Given the description of an element on the screen output the (x, y) to click on. 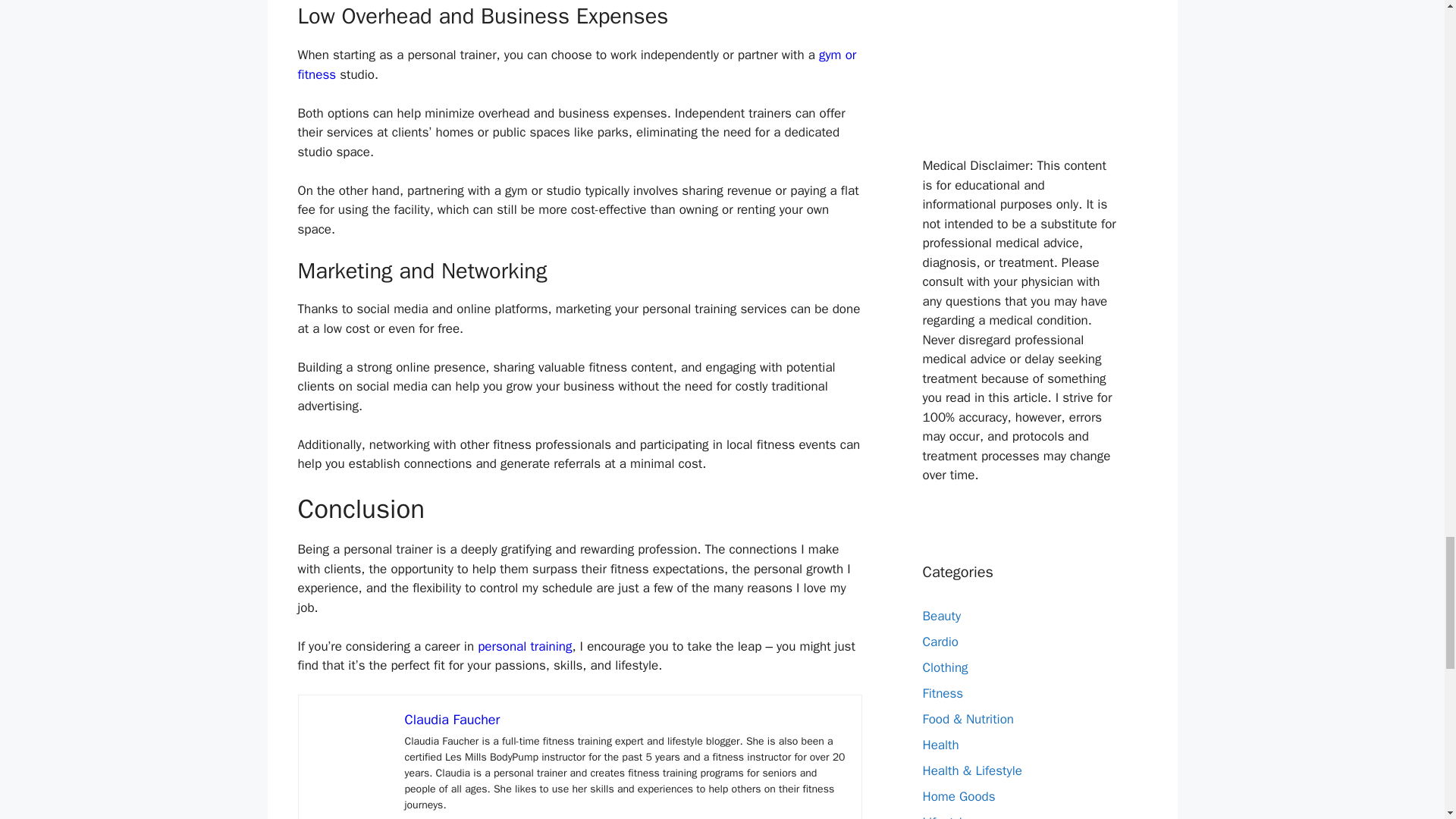
personal training (524, 646)
Why I Love Being a Personal Trainer 2 (352, 748)
Claudia Faucher (452, 719)
gym or fitness (576, 64)
